Given the description of an element on the screen output the (x, y) to click on. 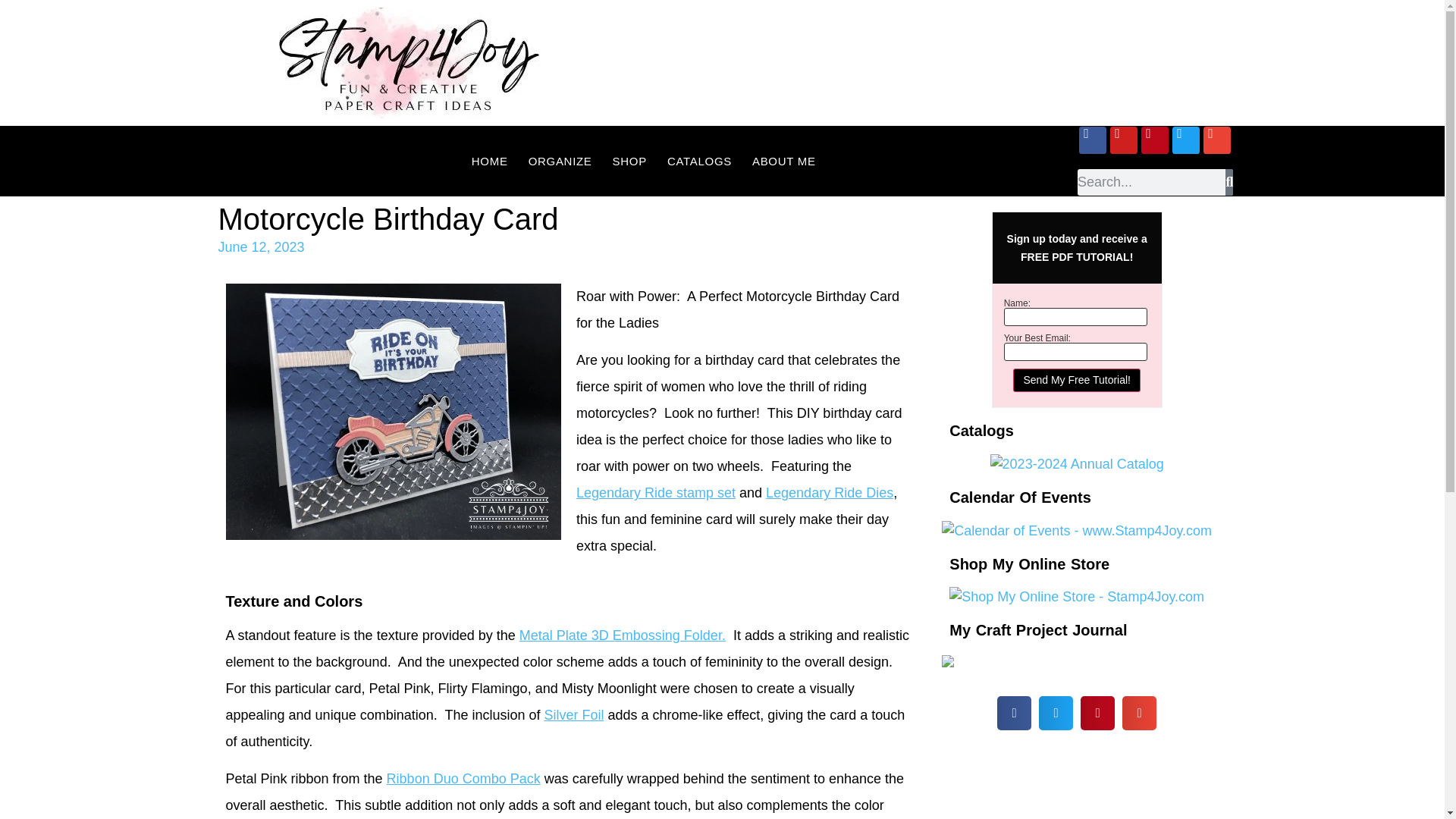
CATALOGS (699, 160)
ORGANIZE (560, 160)
Ribbon Duo Combo Pack (463, 778)
Legendary Ride stamp set (655, 492)
Copy of Pink Updated Shop Online Store 4th (1076, 597)
Silver Foil (573, 714)
Send My Free Tutorial! (1076, 380)
Metal Plate 3D Embossing Folder. (622, 635)
June 12, 2023 (261, 247)
Stamp4Joy Calendar of Events (1076, 530)
HOME (489, 160)
Legendary Ride Dies (829, 492)
ABOUT ME (784, 160)
SHOP (629, 160)
Send My Free Tutorial! (1076, 380)
